Given the description of an element on the screen output the (x, y) to click on. 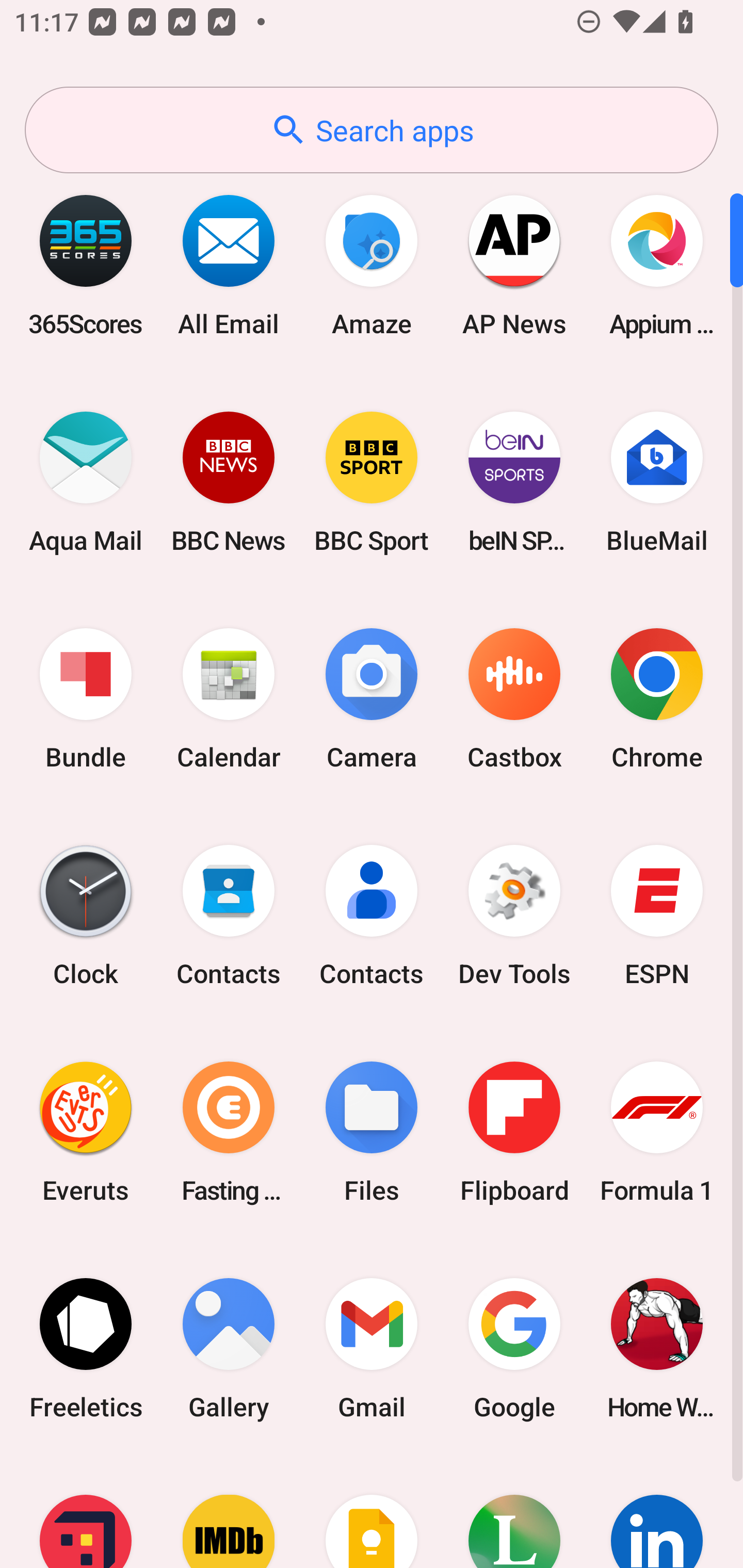
  Search apps (371, 130)
365Scores (85, 264)
All Email (228, 264)
Amaze (371, 264)
AP News (514, 264)
Appium Settings (656, 264)
Aqua Mail (85, 482)
BBC News (228, 482)
BBC Sport (371, 482)
beIN SPORTS (514, 482)
BlueMail (656, 482)
Bundle (85, 699)
Calendar (228, 699)
Camera (371, 699)
Castbox (514, 699)
Chrome (656, 699)
Clock (85, 915)
Contacts (228, 915)
Contacts (371, 915)
Dev Tools (514, 915)
ESPN (656, 915)
Everuts (85, 1131)
Fasting Coach (228, 1131)
Files (371, 1131)
Flipboard (514, 1131)
Formula 1 (656, 1131)
Freeletics (85, 1348)
Gallery (228, 1348)
Gmail (371, 1348)
Google (514, 1348)
Home Workout (656, 1348)
Hotels.com (85, 1512)
IMDb (228, 1512)
Keep Notes (371, 1512)
Lifesum (514, 1512)
LinkedIn (656, 1512)
